Given the description of an element on the screen output the (x, y) to click on. 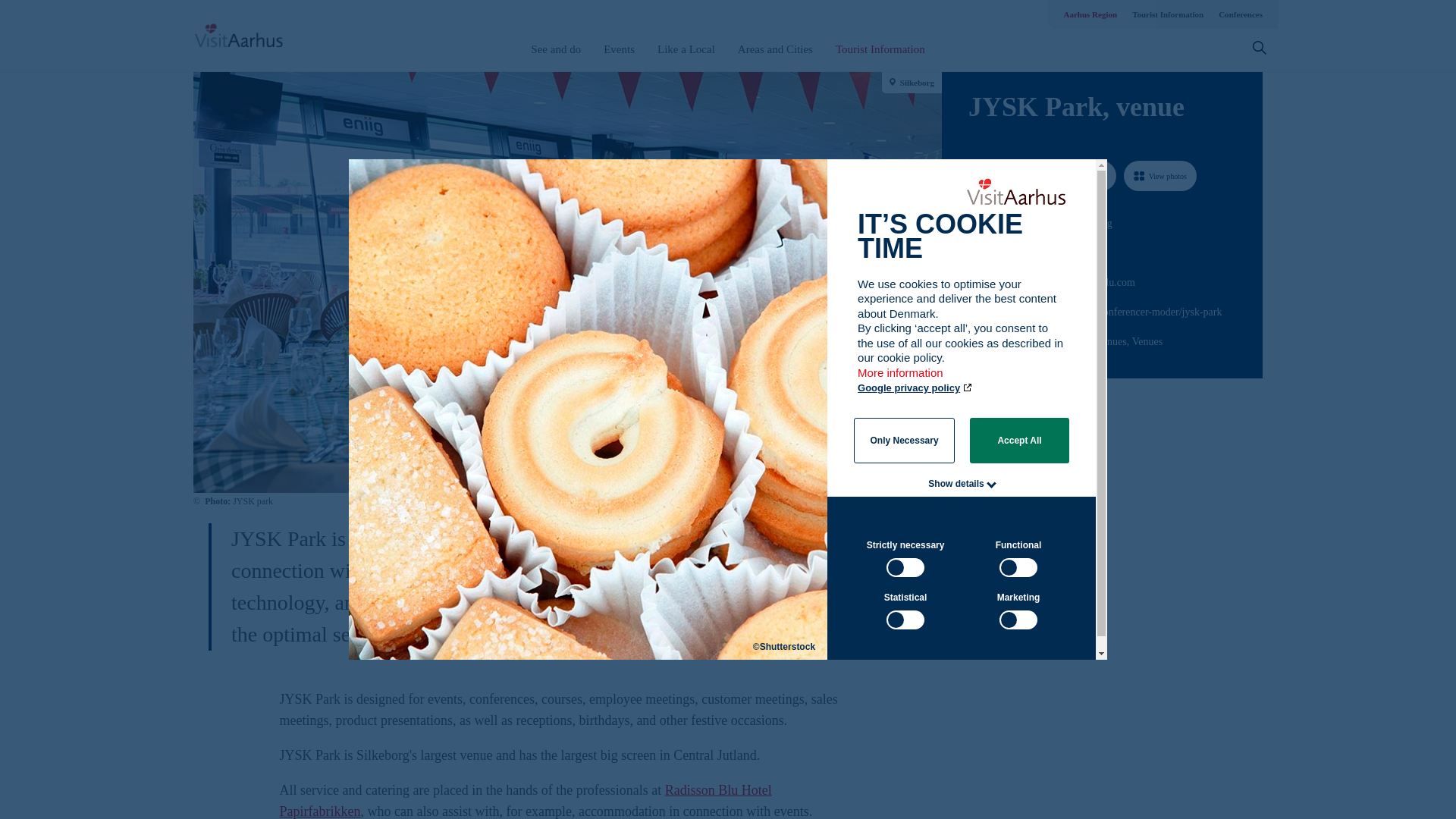
Google privacy policy (915, 387)
Accept All (1018, 440)
More information (900, 379)
Only Necessary (904, 440)
Show details (956, 483)
Path (973, 250)
Path (973, 310)
